Given the description of an element on the screen output the (x, y) to click on. 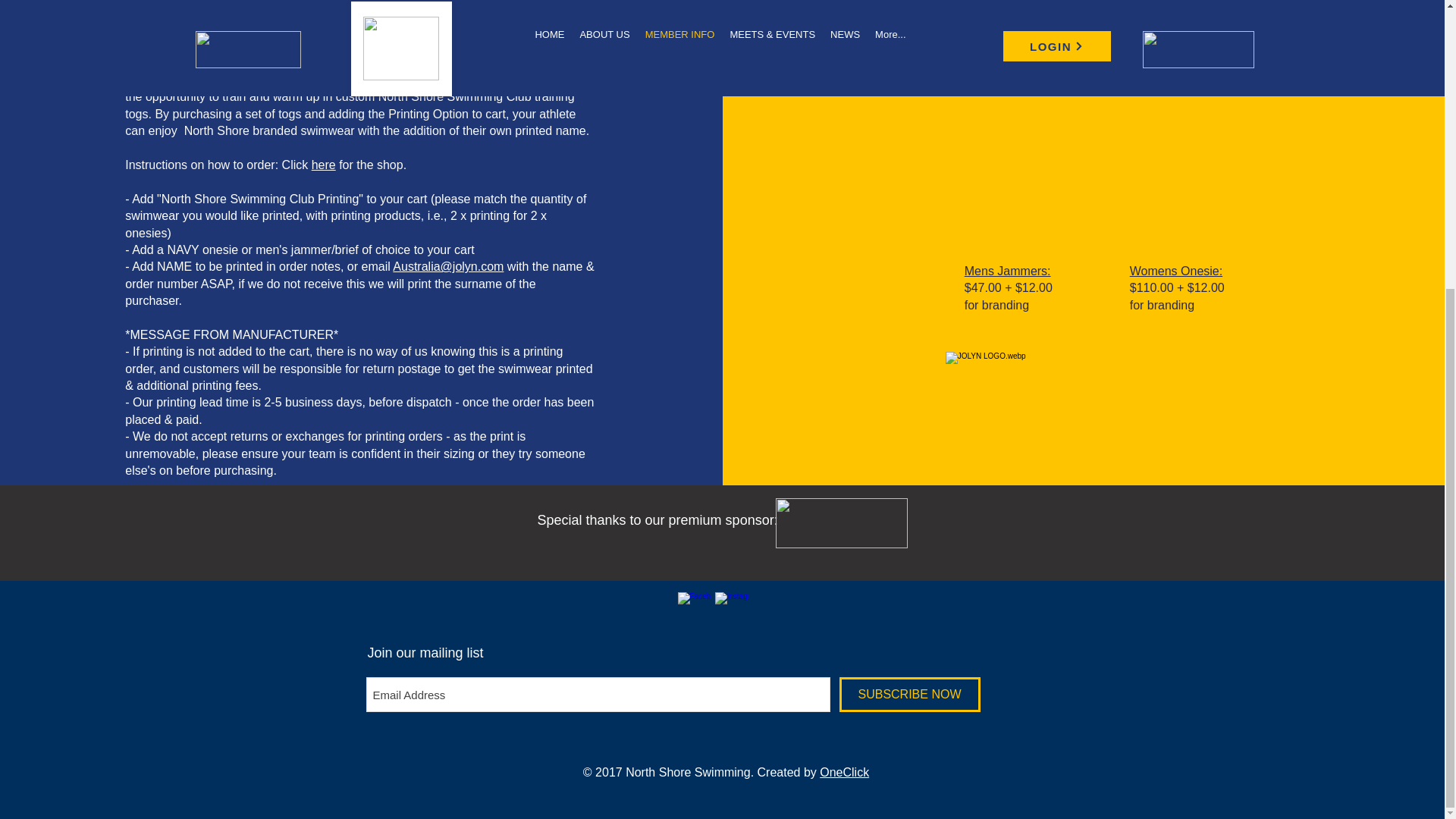
Mens Jammers: (1007, 270)
SUBSCRIBE NOW (908, 694)
gh-horizontal.png (840, 522)
here (323, 164)
Womens Onesie: (1176, 270)
OneClick (844, 771)
